Given the description of an element on the screen output the (x, y) to click on. 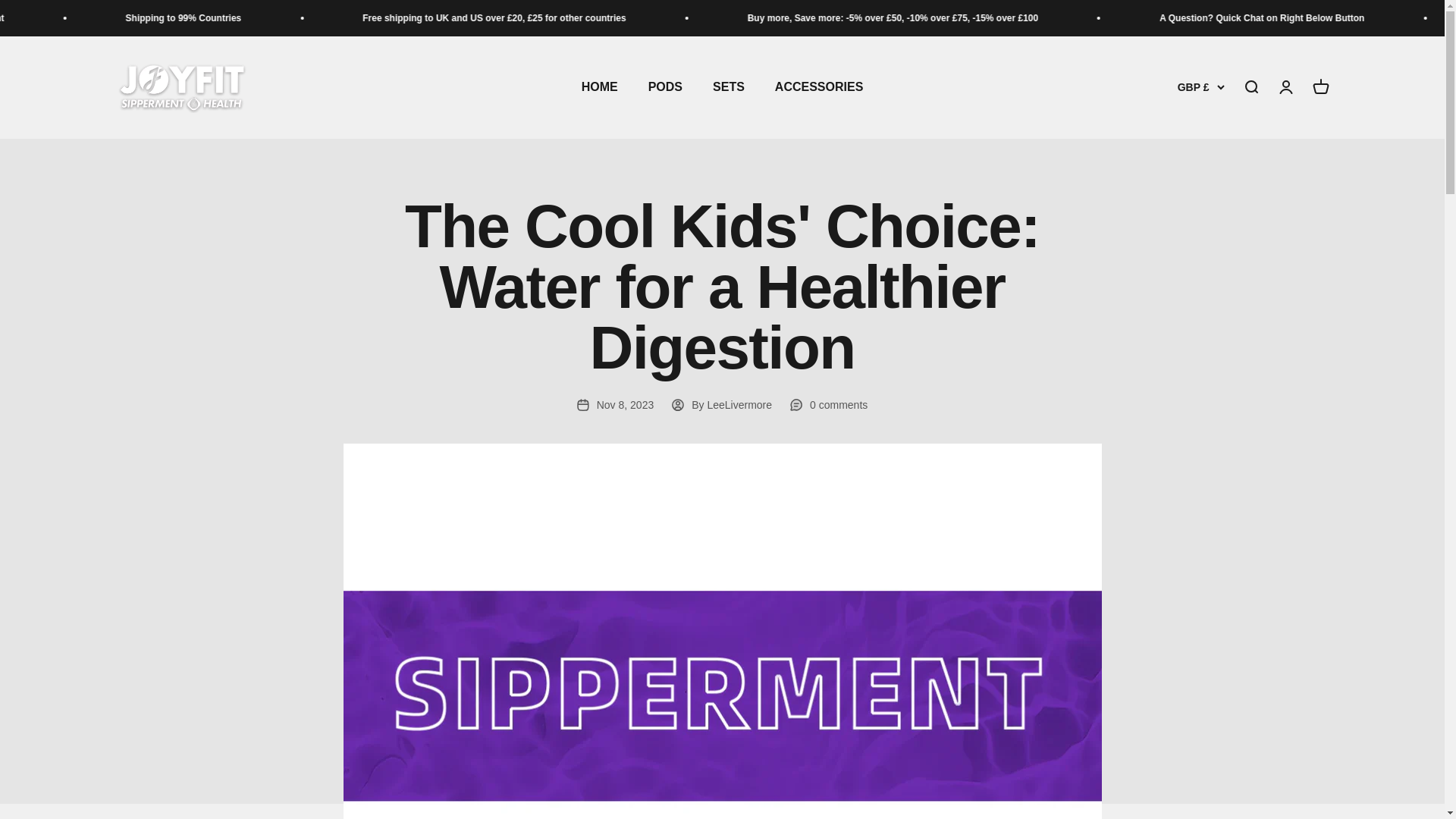
ACCESSORIES (818, 87)
Joyfit - Sipperment Water Health (181, 87)
HOME (598, 87)
SETS (728, 87)
PODS (664, 87)
